Given the description of an element on the screen output the (x, y) to click on. 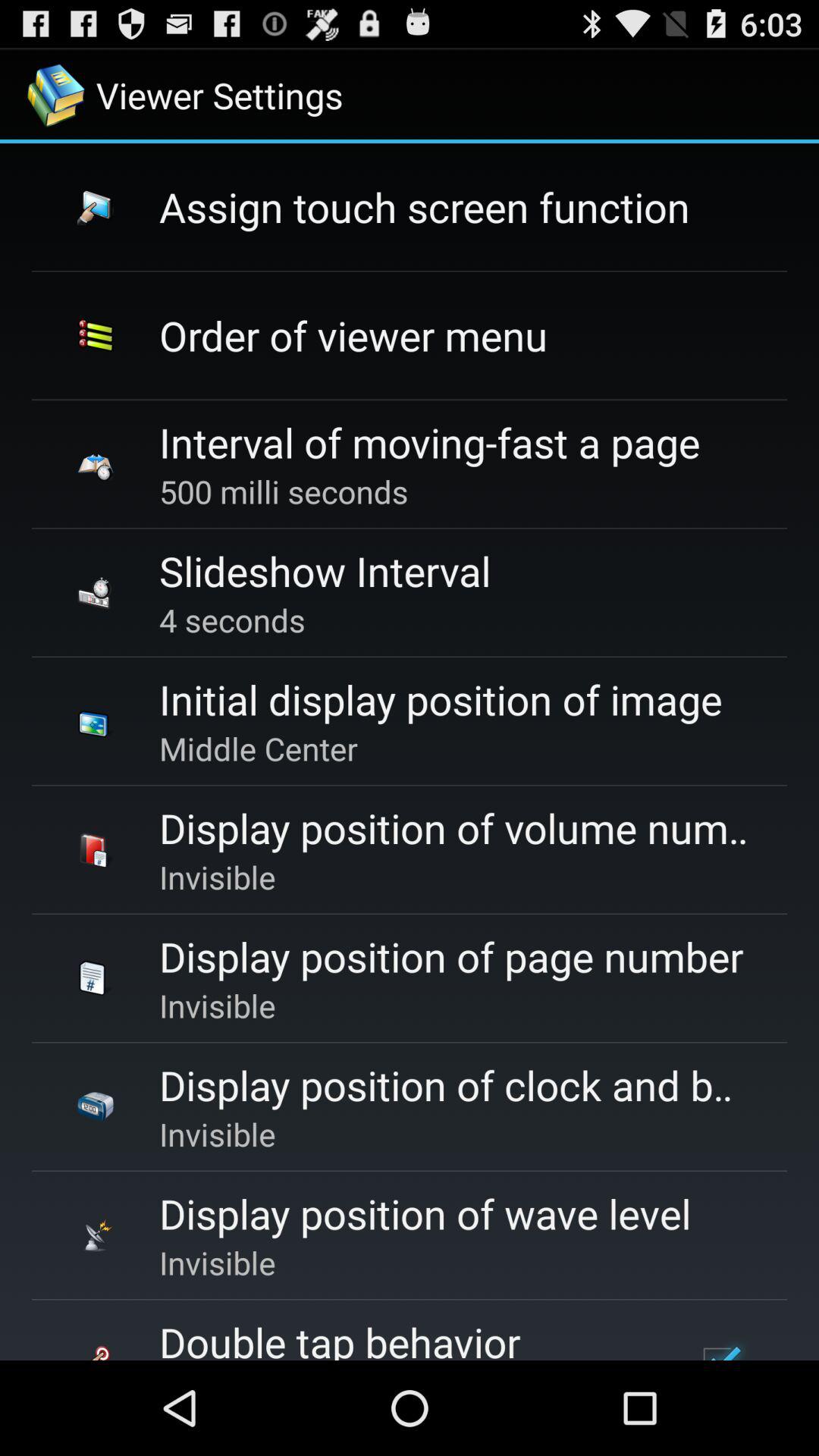
open the item next to the double tap behavior (719, 1346)
